Given the description of an element on the screen output the (x, y) to click on. 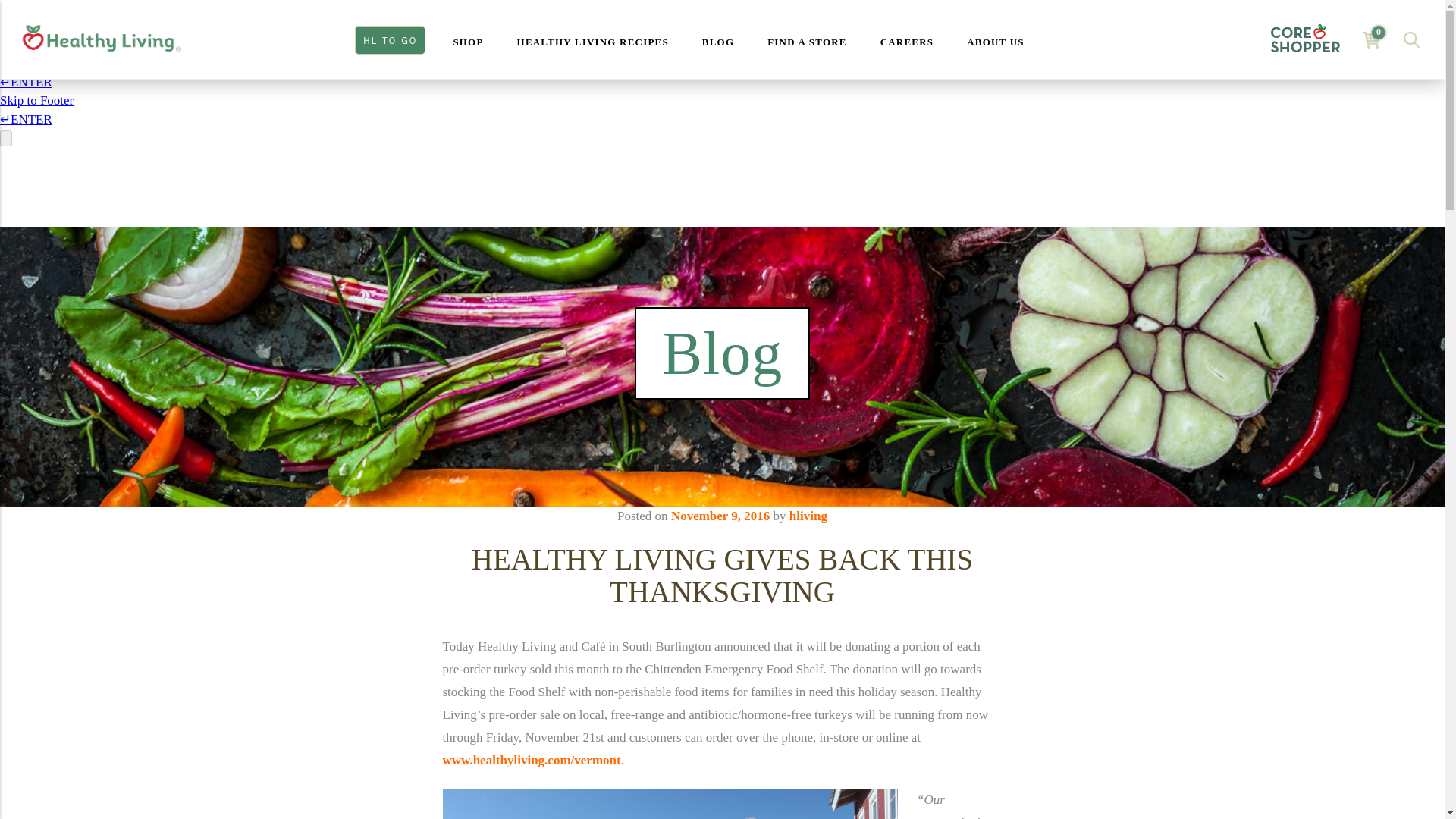
HL TO GO (390, 39)
CAREERS (906, 39)
Search (1411, 39)
HEALTHY LIVING RECIPES (593, 39)
My Cart (1371, 39)
0 (1371, 39)
FIND A STORE (807, 39)
Account (1305, 38)
ABOUT US (995, 39)
